Given the description of an element on the screen output the (x, y) to click on. 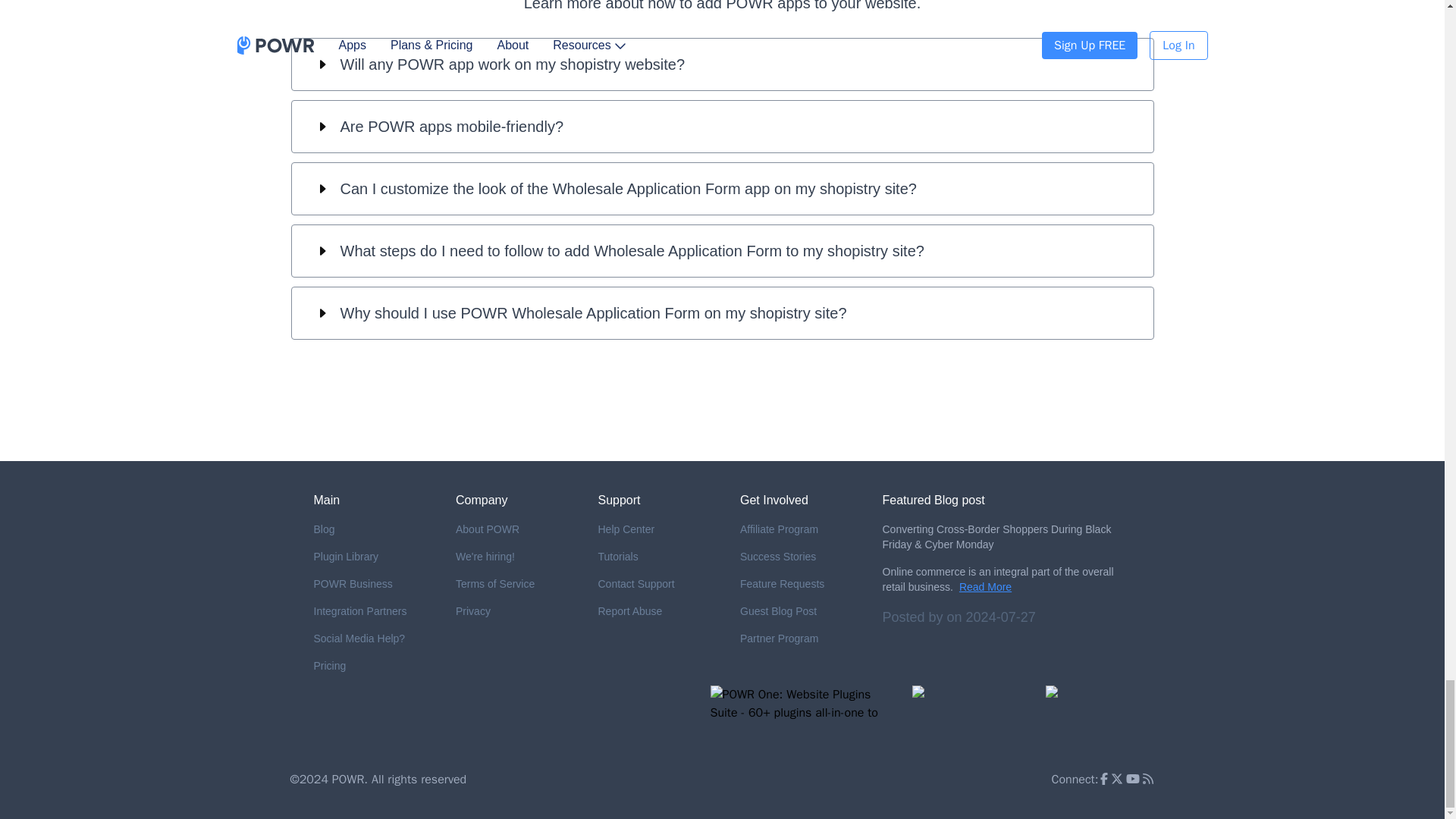
Blog (373, 529)
Read reviews of POWR on G2 (971, 715)
Will any POWR app work on my shopistry website? (722, 64)
Are POWR apps mobile-friendly? (722, 126)
